Given the description of an element on the screen output the (x, y) to click on. 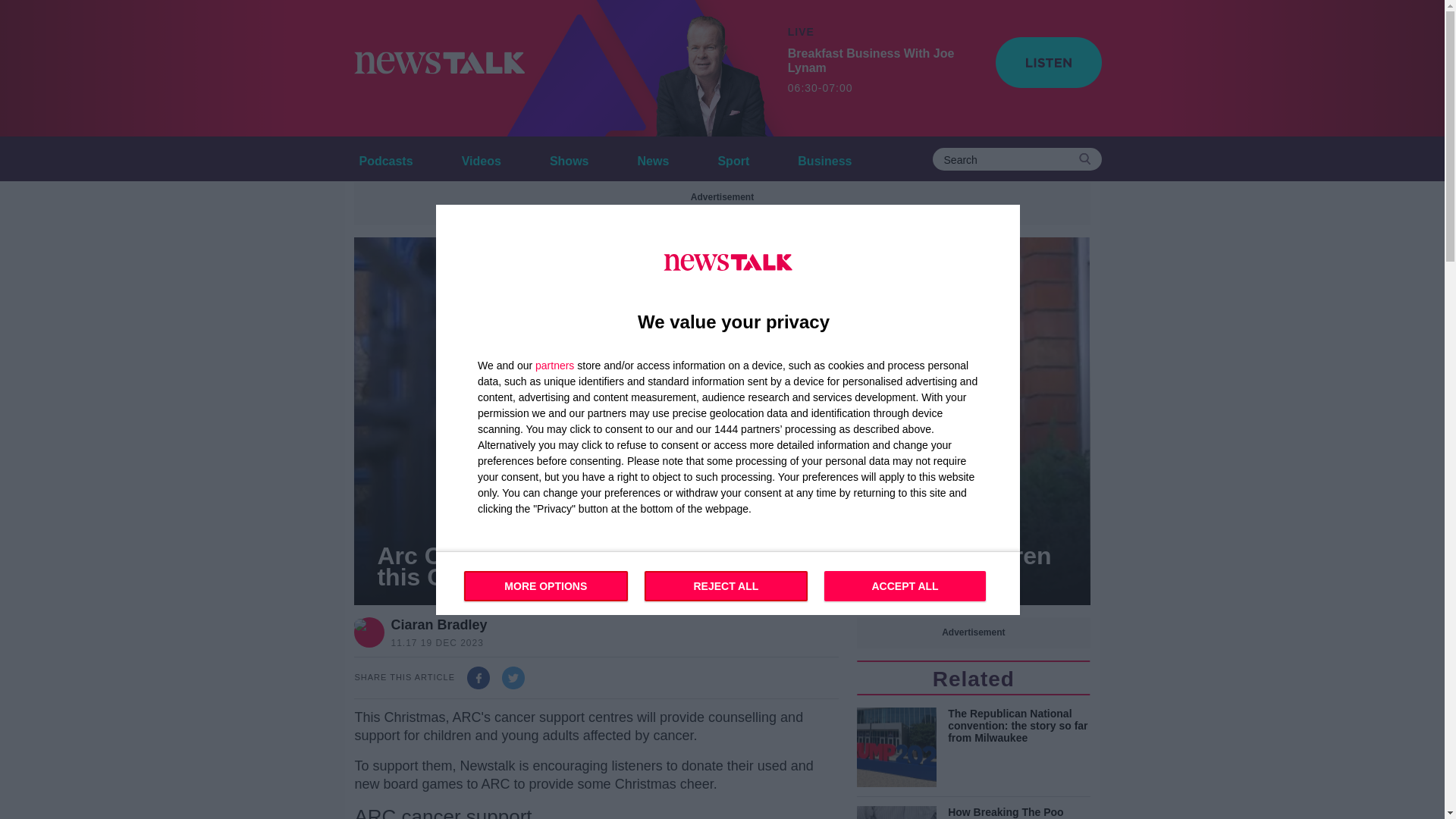
Business (824, 158)
ACCEPT ALL (904, 585)
News (653, 158)
News (653, 158)
REJECT ALL (726, 585)
partners (554, 364)
Podcasts (384, 158)
Sport (733, 158)
Podcasts (384, 158)
Breakfast Business With Joe Lynam (701, 68)
Shows (569, 158)
Videos (481, 158)
MORE OPTIONS (881, 70)
